Given the description of an element on the screen output the (x, y) to click on. 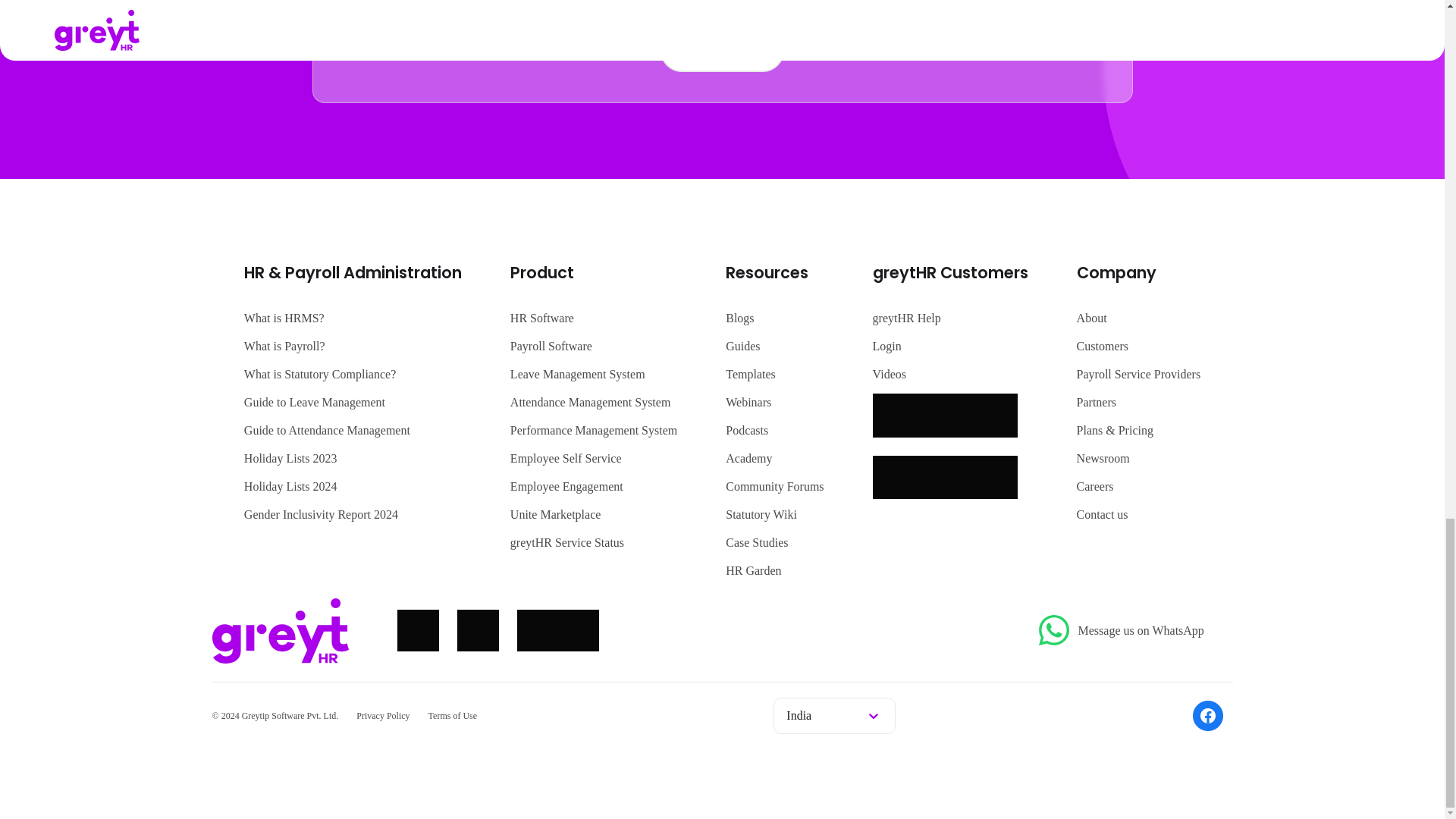
Podcasts (746, 430)
Templates (750, 373)
What is Statutory Compliance? (320, 373)
Videos (888, 373)
What is HRMS? (284, 318)
Unite Marketplace (556, 513)
Gender Inclusivity Report 2024 (320, 513)
HR Software (542, 318)
Guides (742, 345)
Webinars (748, 401)
